Given the description of an element on the screen output the (x, y) to click on. 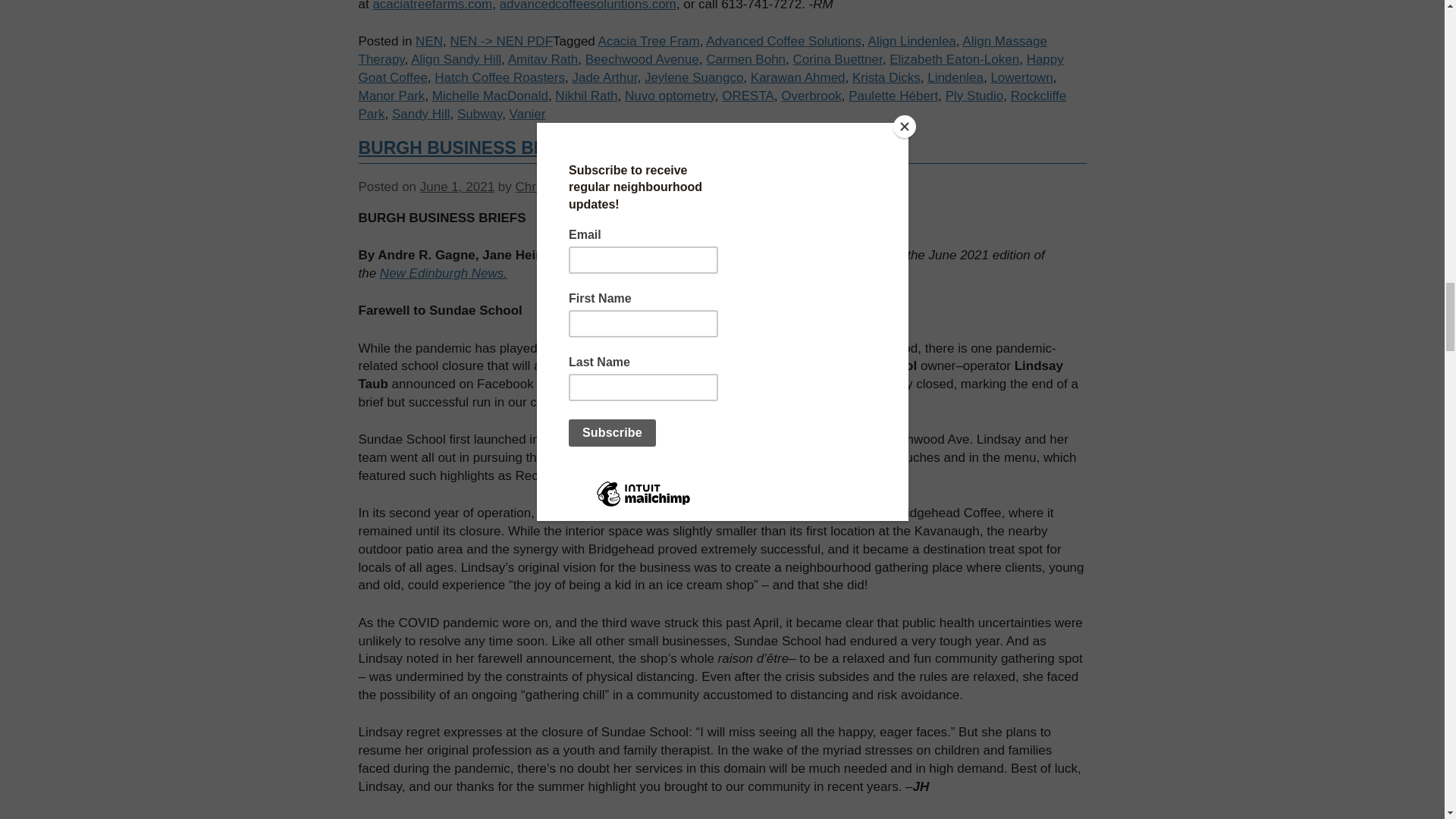
Advanced Coffee Solutions (783, 41)
Karawan Ahmed (798, 77)
Happy Goat Coffee (710, 68)
Jeylene Suangco (693, 77)
Jade Arthur (604, 77)
Align Lindenlea (911, 41)
Beechwood Avenue (641, 59)
Elizabeth Eaton-Loken (954, 59)
Krista Dicks (885, 77)
acaciatreefarms.com (432, 5)
Amitav Rath (543, 59)
Align Sandy Hill (455, 59)
Hatch Coffee Roasters (498, 77)
Align Massage Therapy (702, 50)
advancedcoffeesoluntions.com (588, 5)
